Given the description of an element on the screen output the (x, y) to click on. 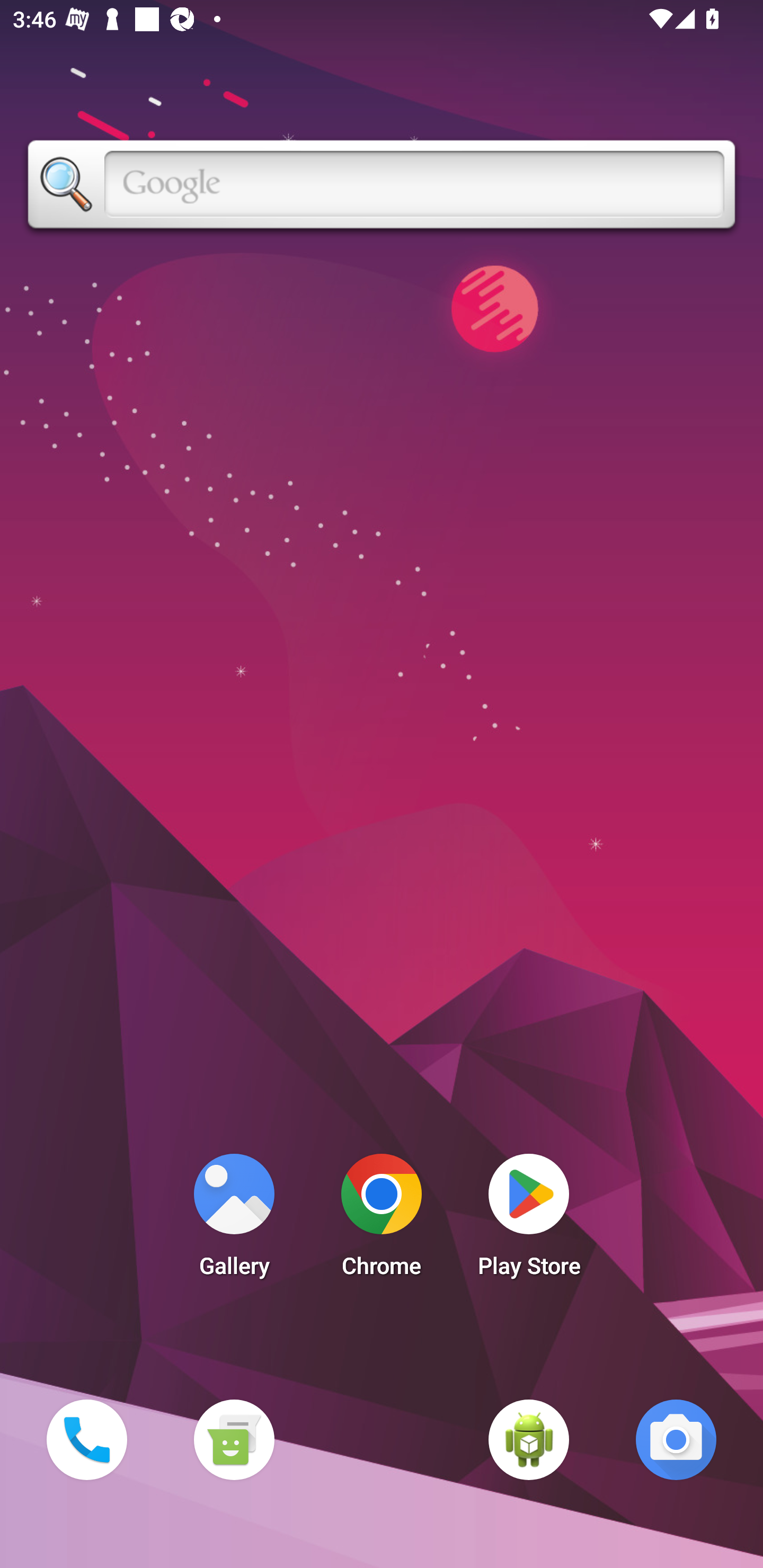
Gallery (233, 1220)
Chrome (381, 1220)
Play Store (528, 1220)
Phone (86, 1439)
Messaging (233, 1439)
WebView Browser Tester (528, 1439)
Camera (676, 1439)
